Given the description of an element on the screen output the (x, y) to click on. 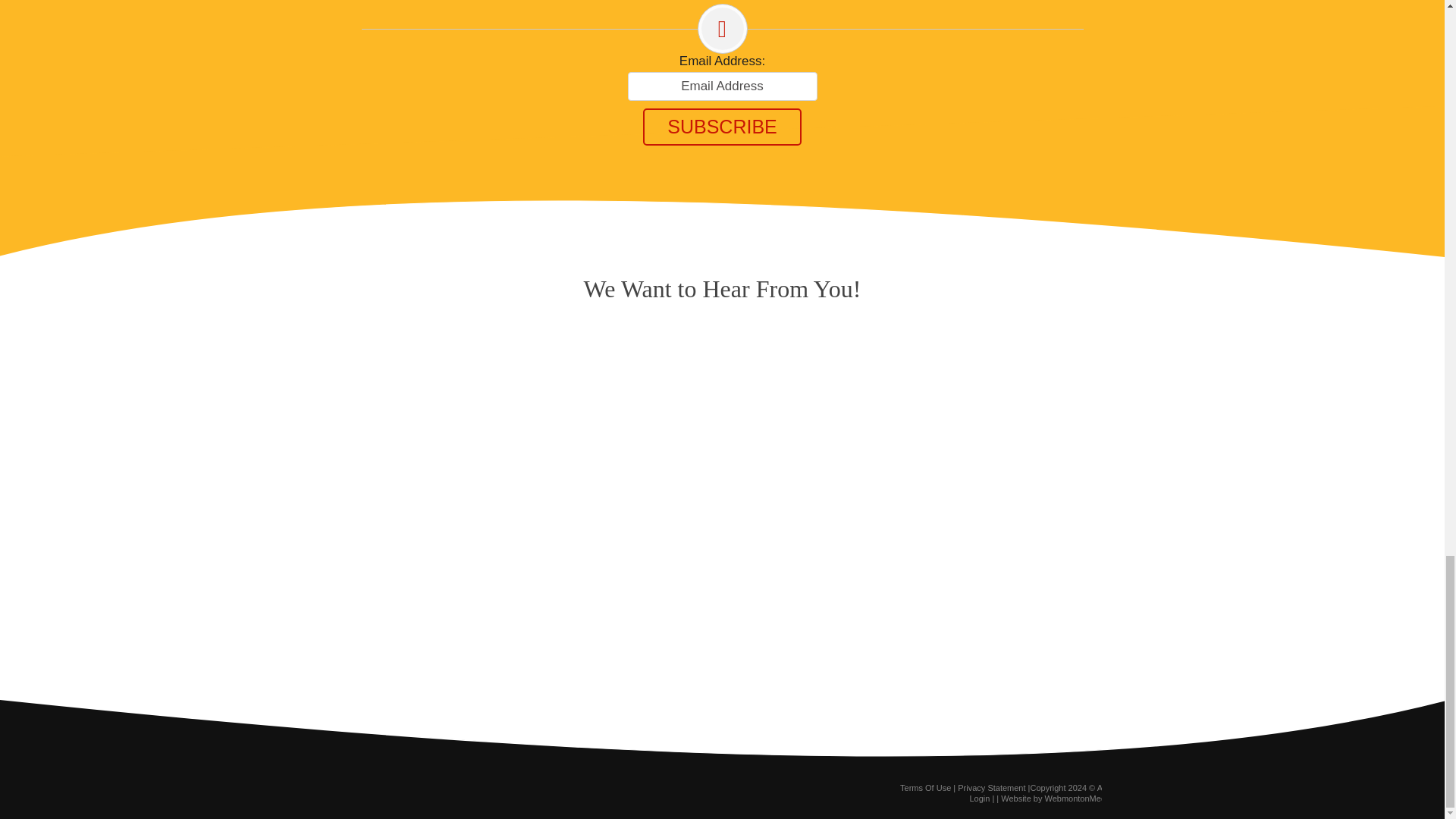
Login (979, 798)
Login (979, 798)
Terms Of Use (924, 787)
WebmontonMedia (1078, 798)
Privacy Statement (991, 787)
